Given the description of an element on the screen output the (x, y) to click on. 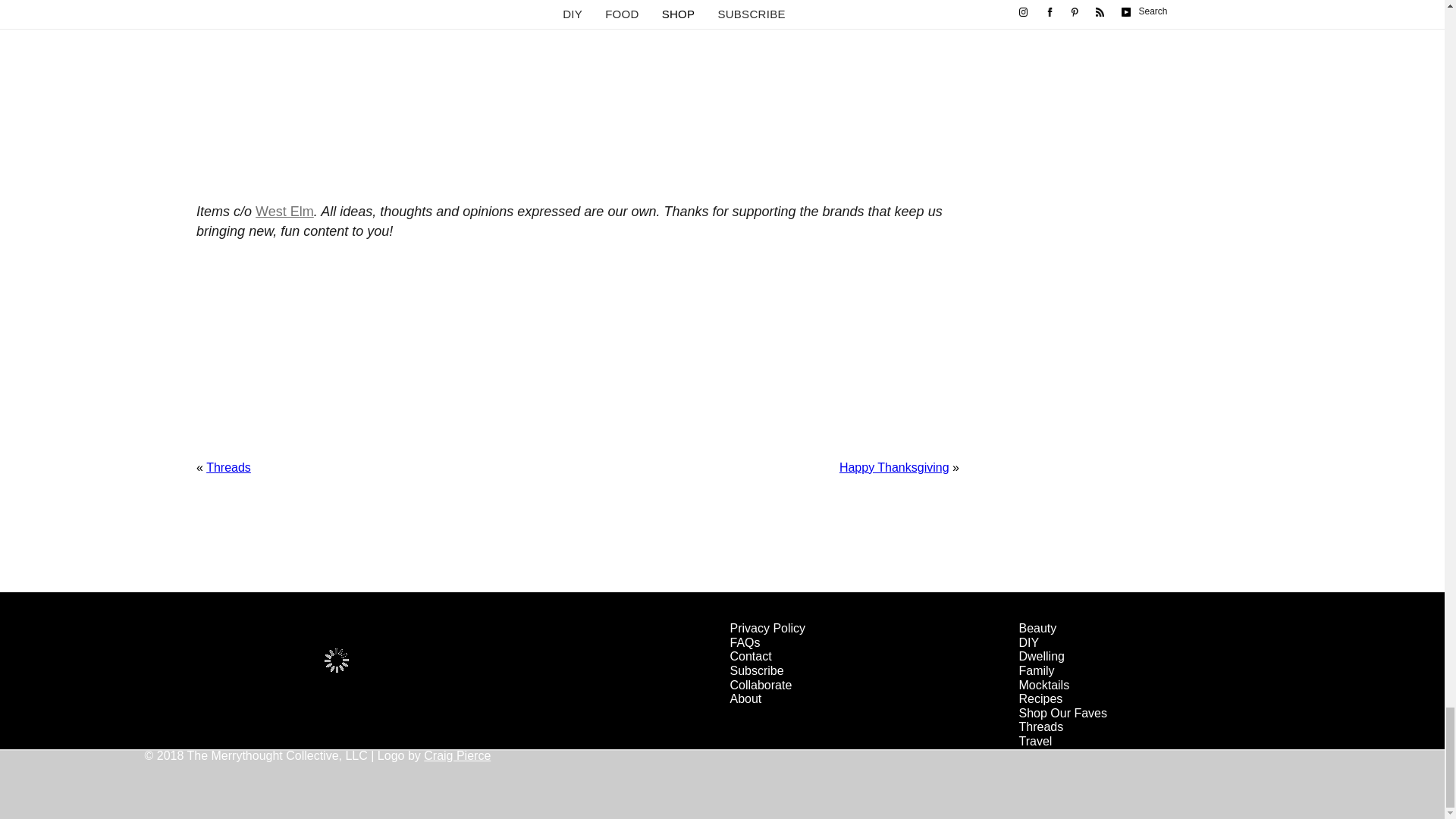
Happy Thanksgiving (894, 467)
Threads (228, 467)
West Elm (285, 211)
